Given the description of an element on the screen output the (x, y) to click on. 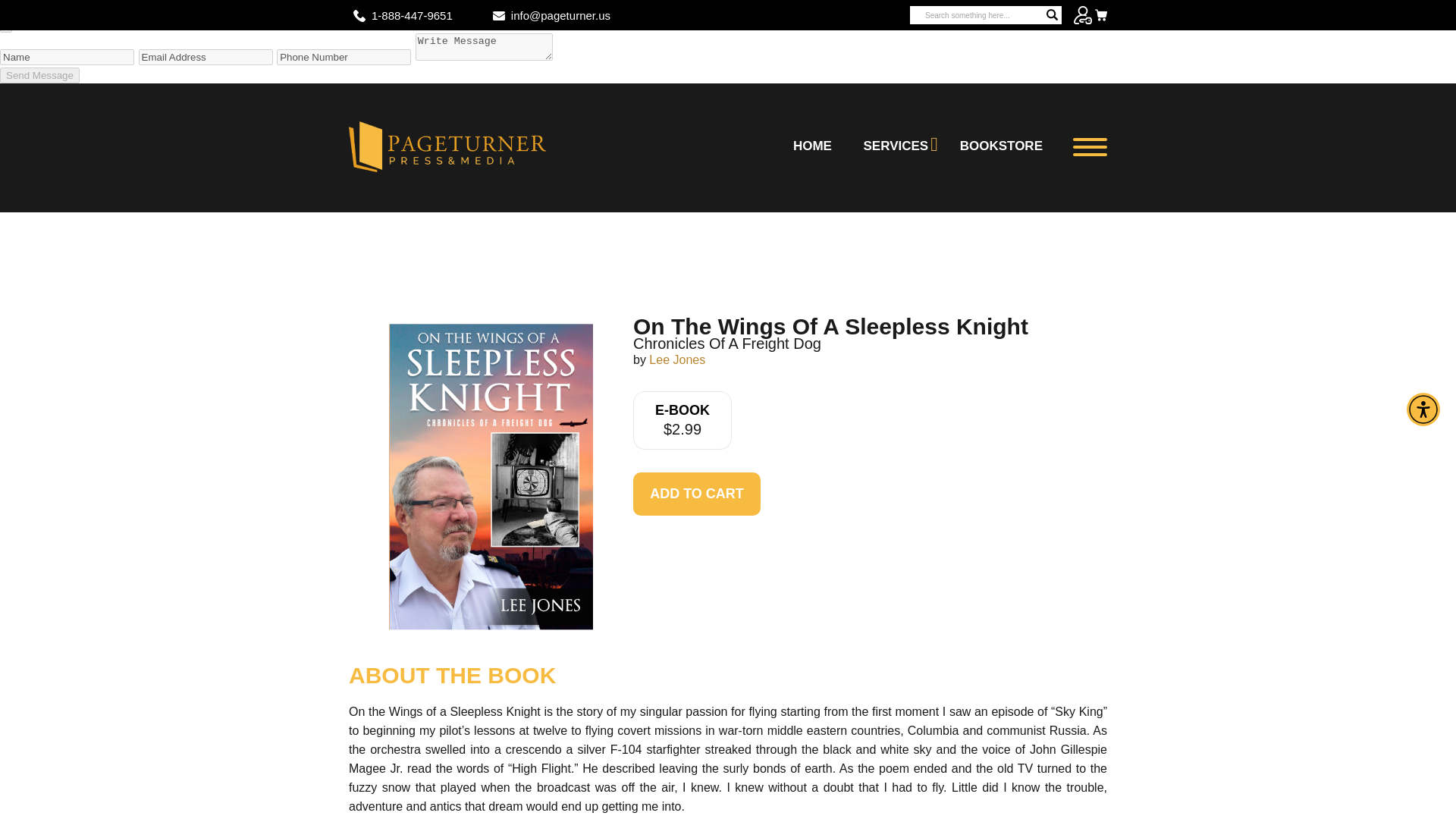
1-888-447-9651 (411, 15)
Accessibility Menu (1422, 409)
Lee Jones (676, 359)
BOOKSTORE (1001, 145)
SERVICES (896, 145)
HOME (812, 145)
Send Message (40, 75)
Login (1083, 14)
ADD TO CART (696, 493)
